Given the description of an element on the screen output the (x, y) to click on. 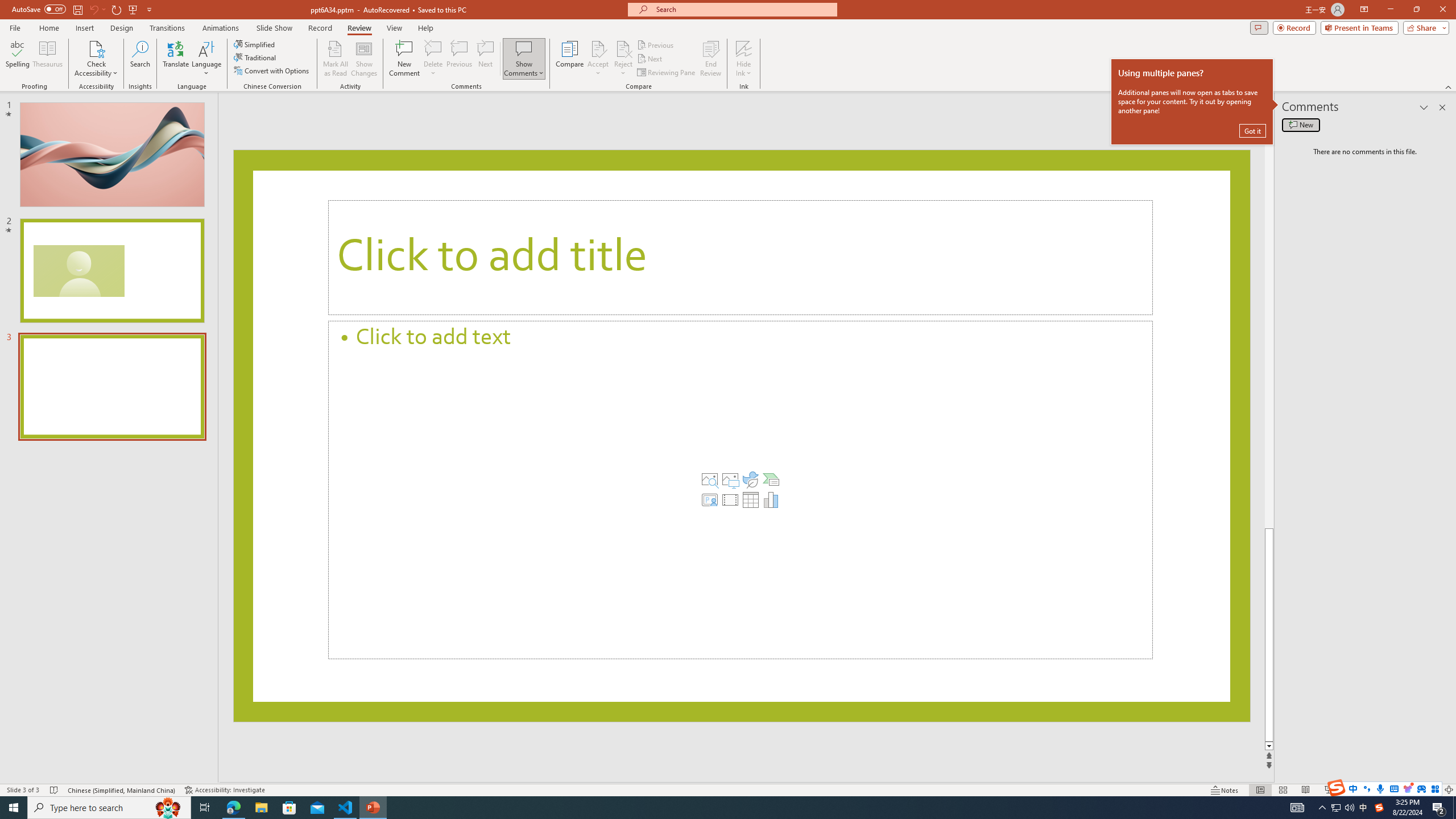
Thesaurus... (47, 58)
Show Changes (363, 58)
Language (206, 58)
Previous (655, 44)
Reviewing Pane (666, 72)
